Given the description of an element on the screen output the (x, y) to click on. 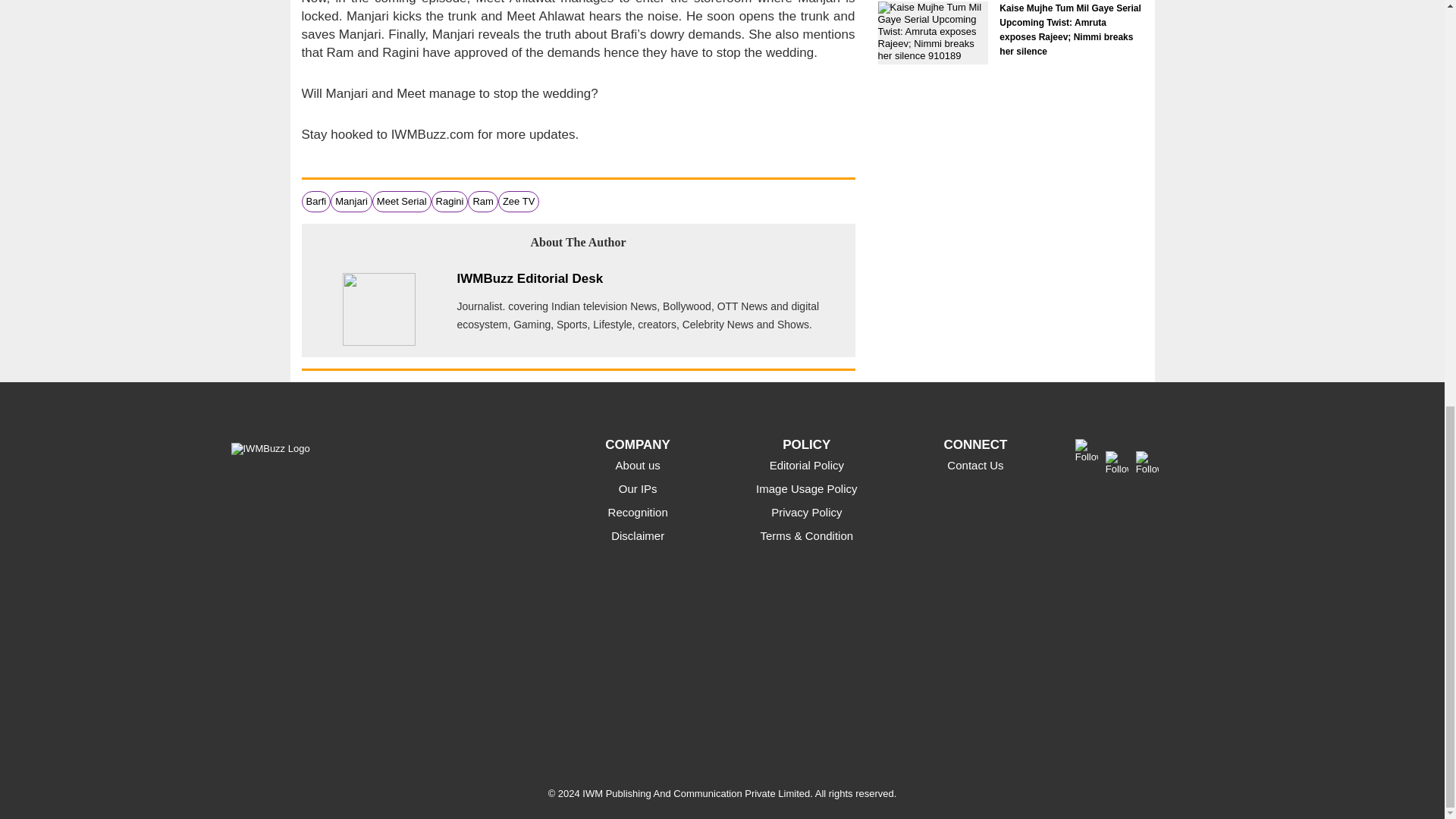
Zee TV (518, 201)
Meet Serial (401, 201)
Ram (482, 201)
Manjari (351, 201)
Ragini (449, 201)
Barfi (315, 201)
IWMBuzz Editorial Desk (529, 278)
